Given the description of an element on the screen output the (x, y) to click on. 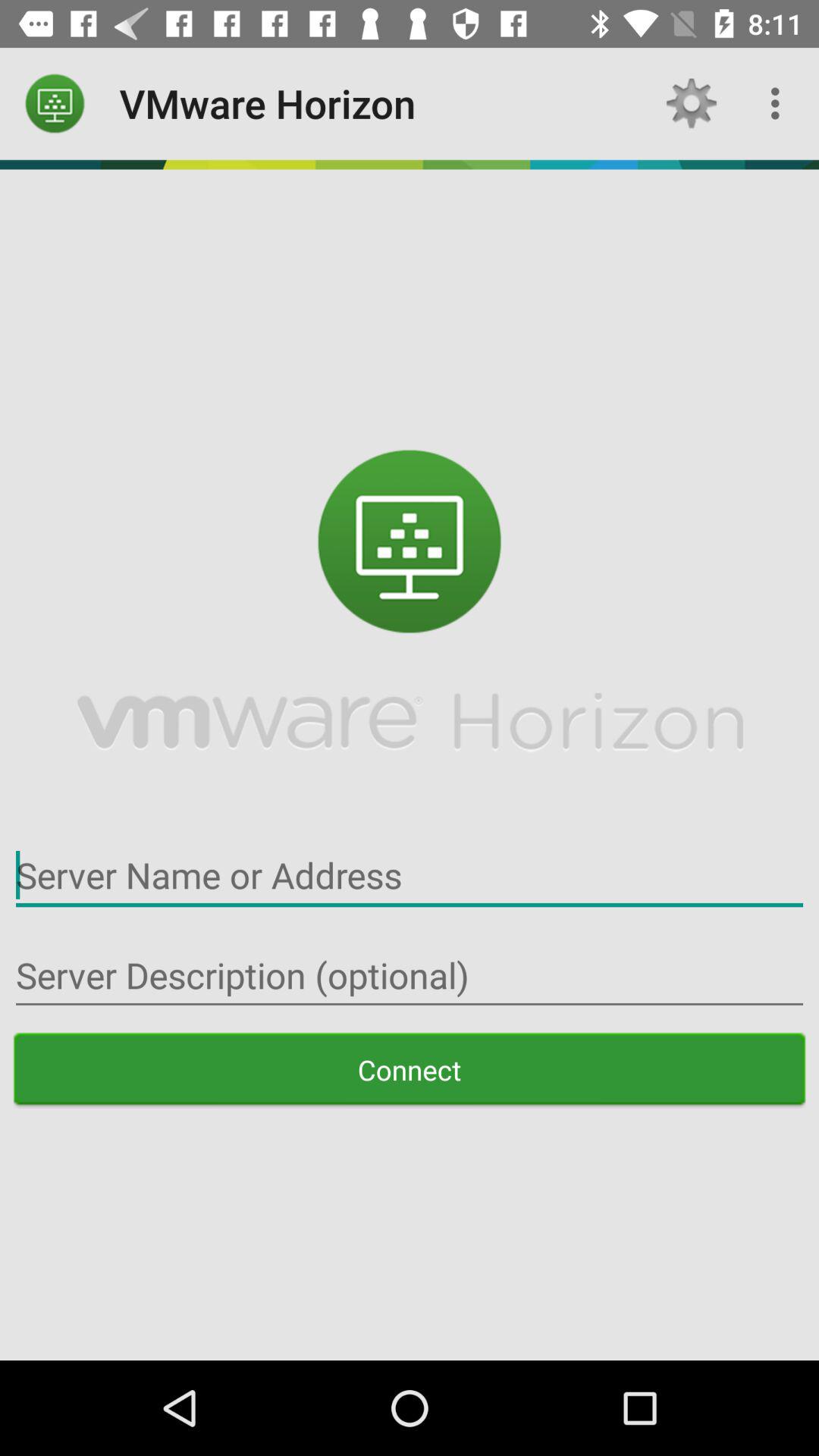
launch the app to the right of vmware horizon icon (691, 103)
